Given the description of an element on the screen output the (x, y) to click on. 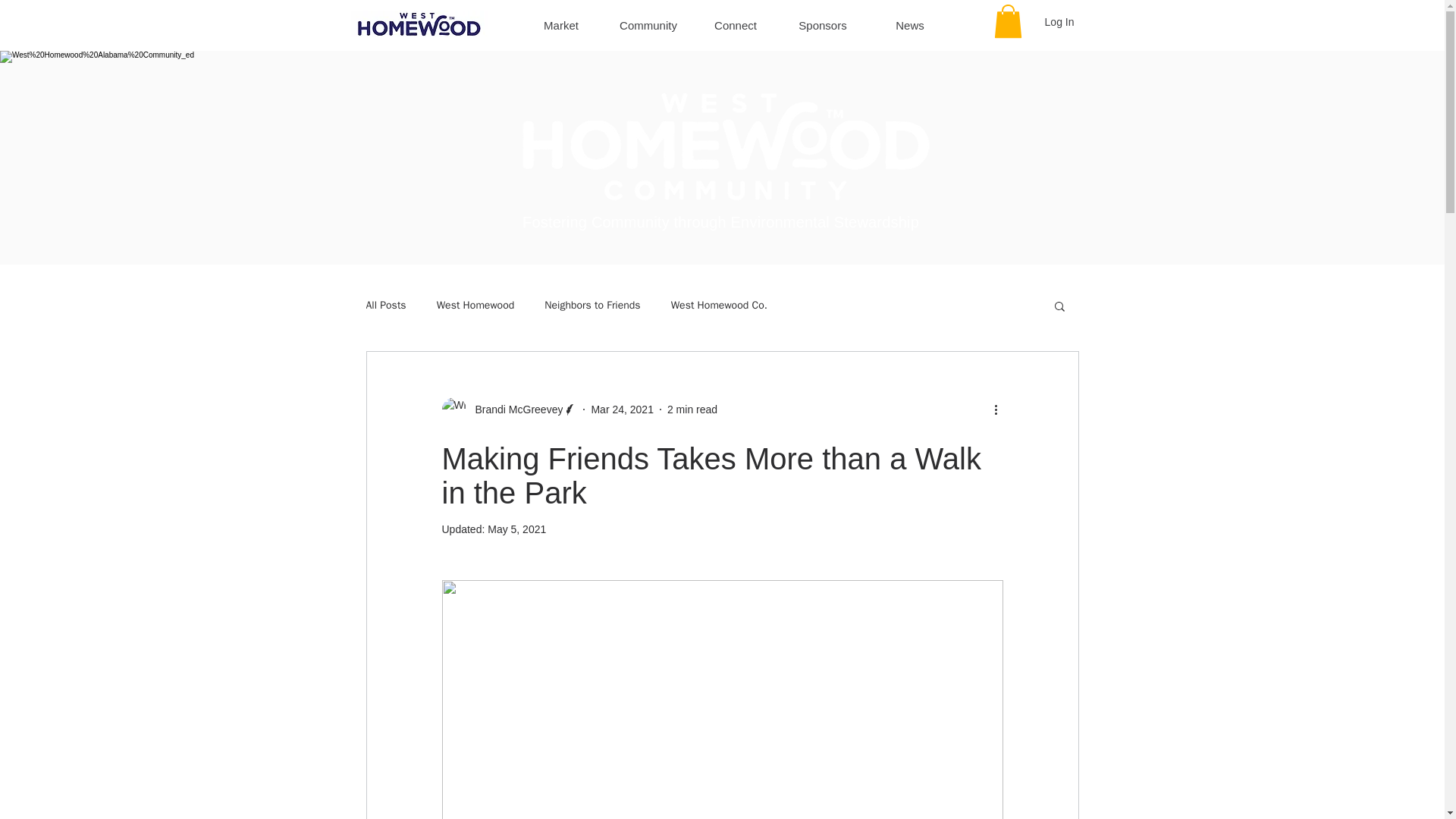
Brandi McGreevey (513, 409)
Mar 24, 2021 (622, 409)
May 5, 2021 (516, 529)
All Posts (385, 305)
Log In (1044, 21)
Community (649, 25)
West Homewood (475, 305)
2 min read (691, 409)
News (909, 25)
